Given the description of an element on the screen output the (x, y) to click on. 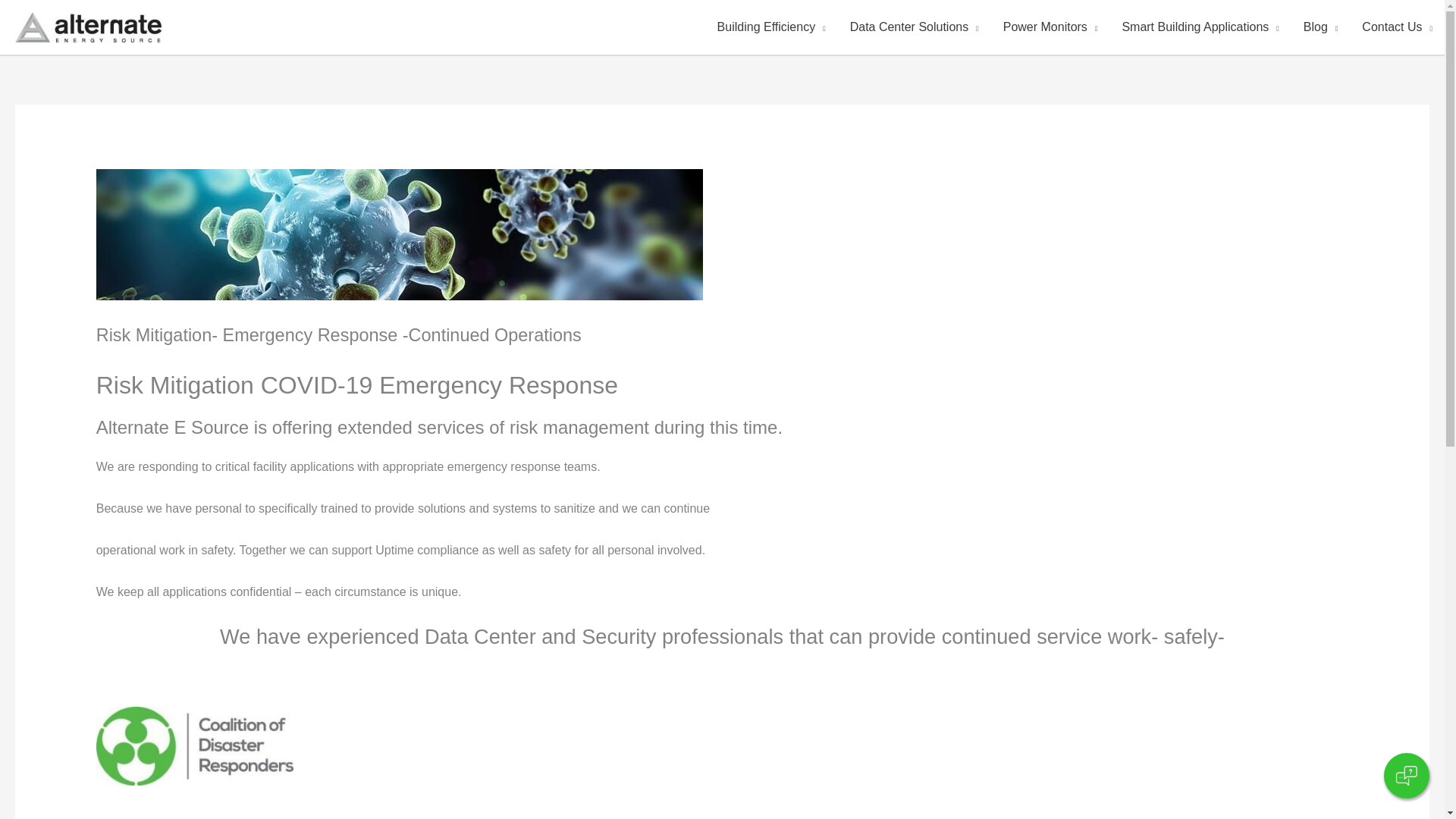
Power Monitors (1050, 27)
Data Center Solutions (914, 27)
Building Efficiency (771, 27)
